Given the description of an element on the screen output the (x, y) to click on. 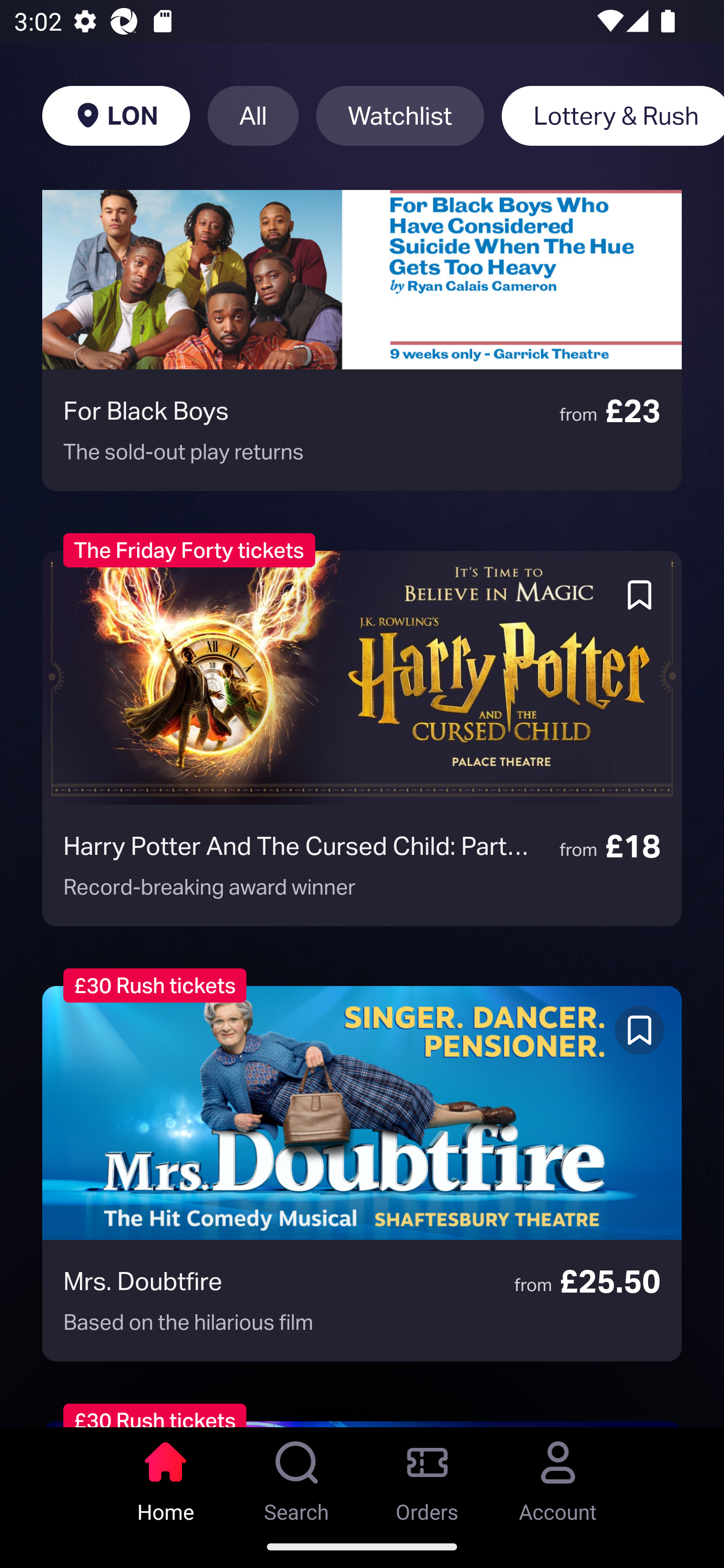
LON (115, 115)
All (252, 115)
Watchlist (400, 115)
Lottery & Rush (612, 115)
For Black Boys from £23 The sold-out play returns (361, 339)
Search (296, 1475)
Orders (427, 1475)
Account (558, 1475)
